Given the description of an element on the screen output the (x, y) to click on. 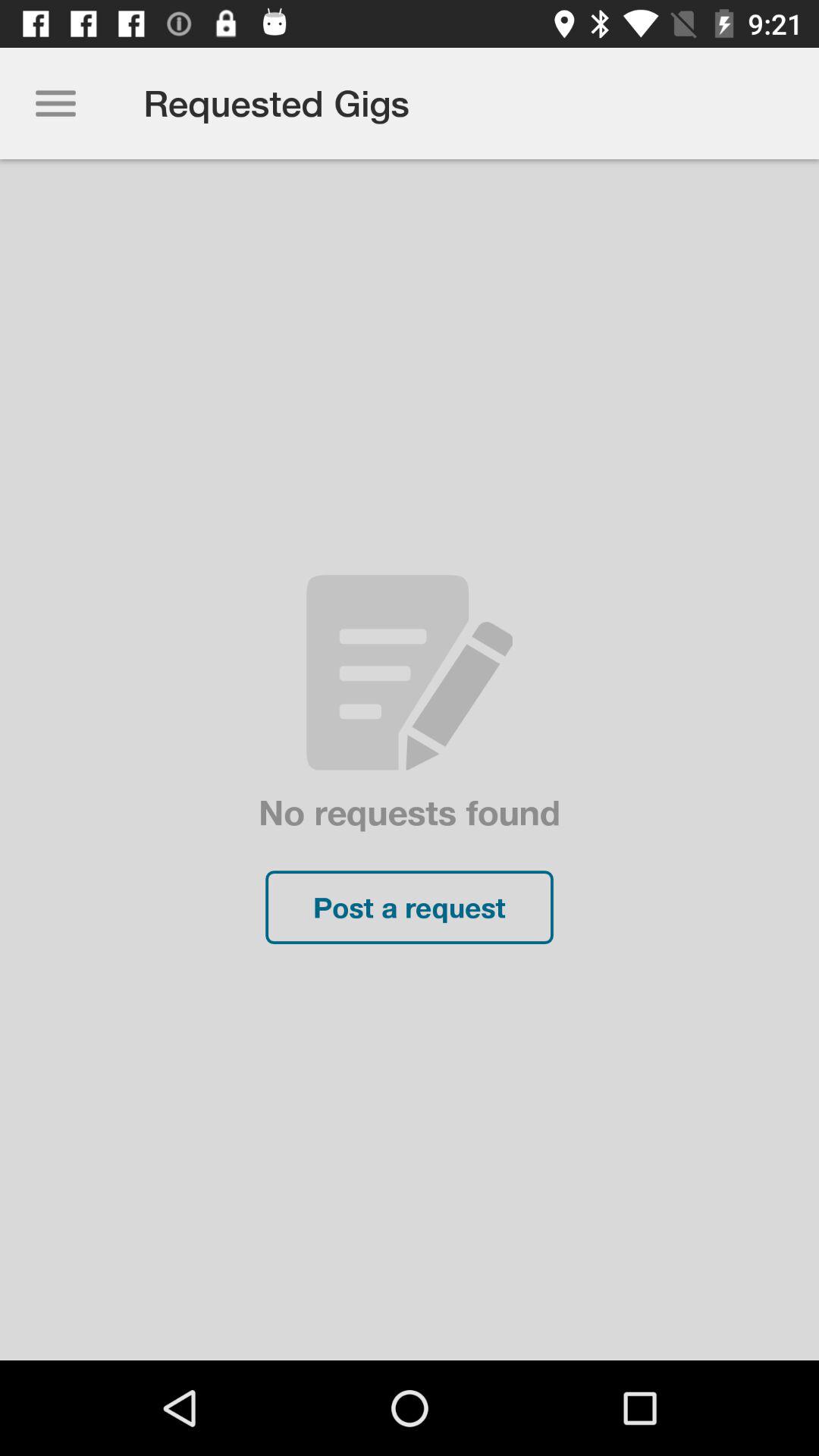
select the icon below no requests found (409, 907)
